Given the description of an element on the screen output the (x, y) to click on. 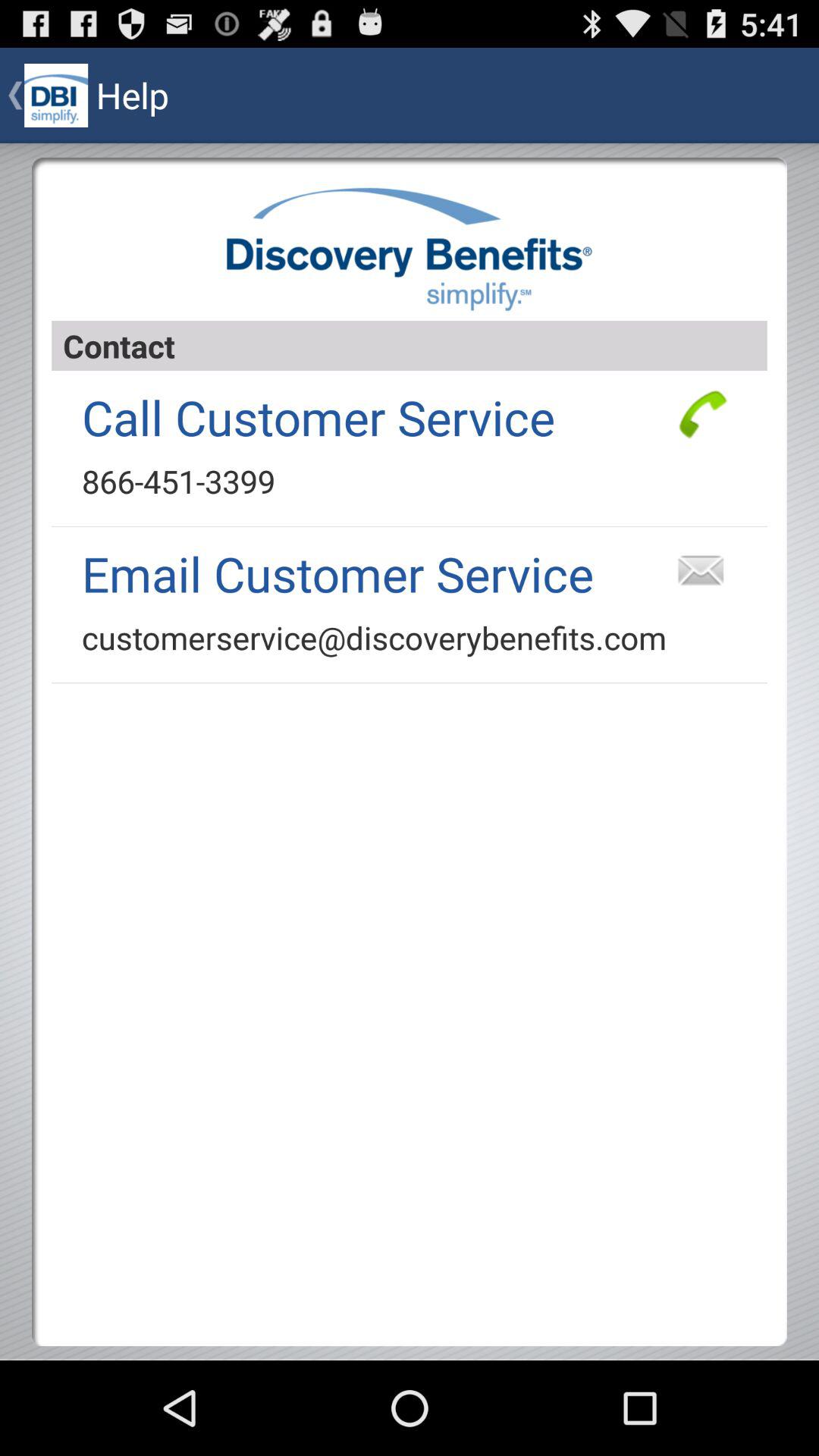
flip until contact (409, 345)
